Given the description of an element on the screen output the (x, y) to click on. 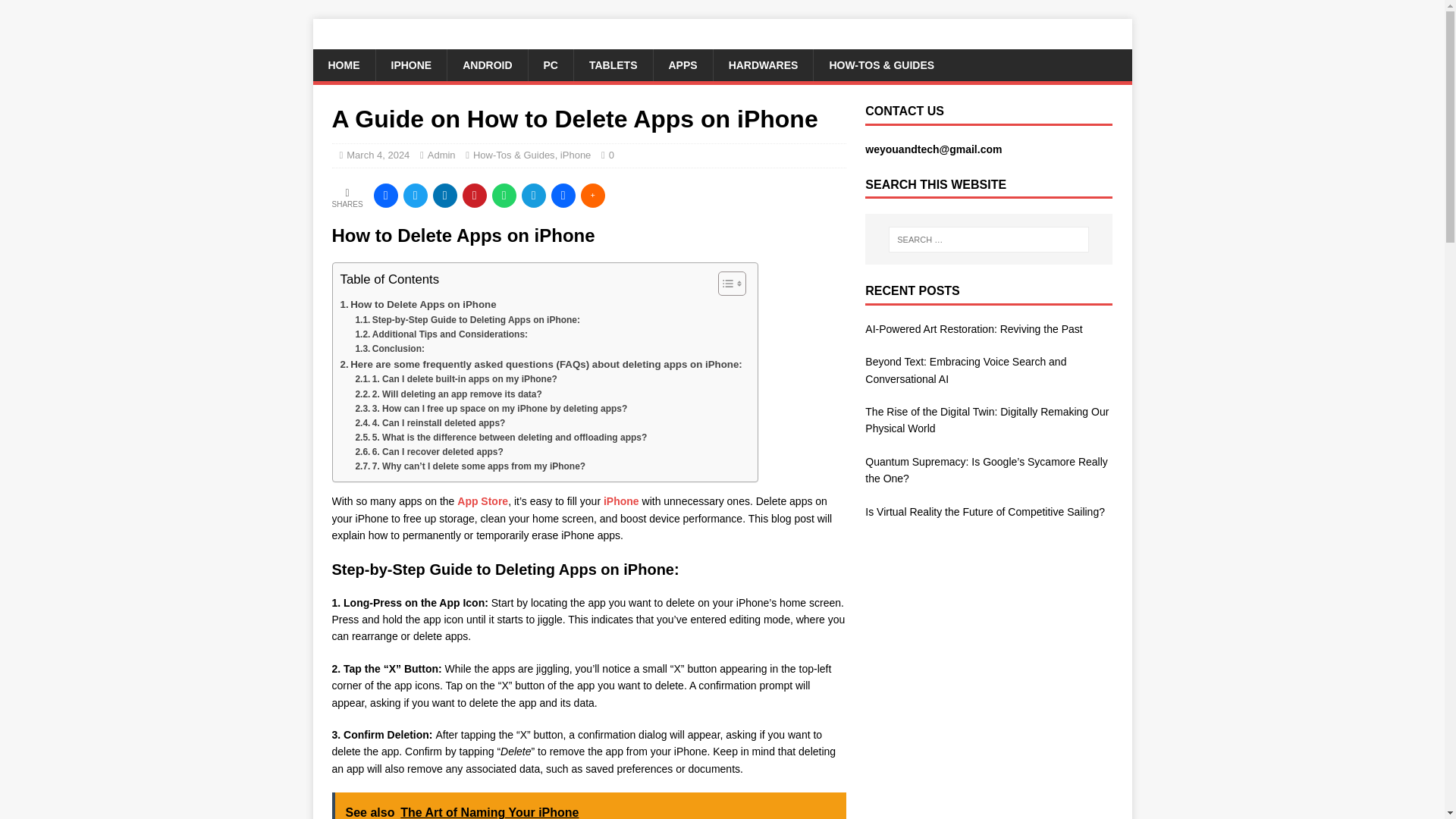
HARDWARES (763, 65)
Step-by-Step Guide to Deleting Apps on iPhone: (467, 319)
Facebook messenger (563, 195)
4. Can I reinstall deleted apps? (430, 423)
How to Delete Apps on iPhone (417, 304)
ANDROID (486, 65)
More share links (592, 195)
6. Can I recover deleted apps? (428, 452)
How to Delete Apps on iPhone (417, 304)
HOME (343, 65)
